Given the description of an element on the screen output the (x, y) to click on. 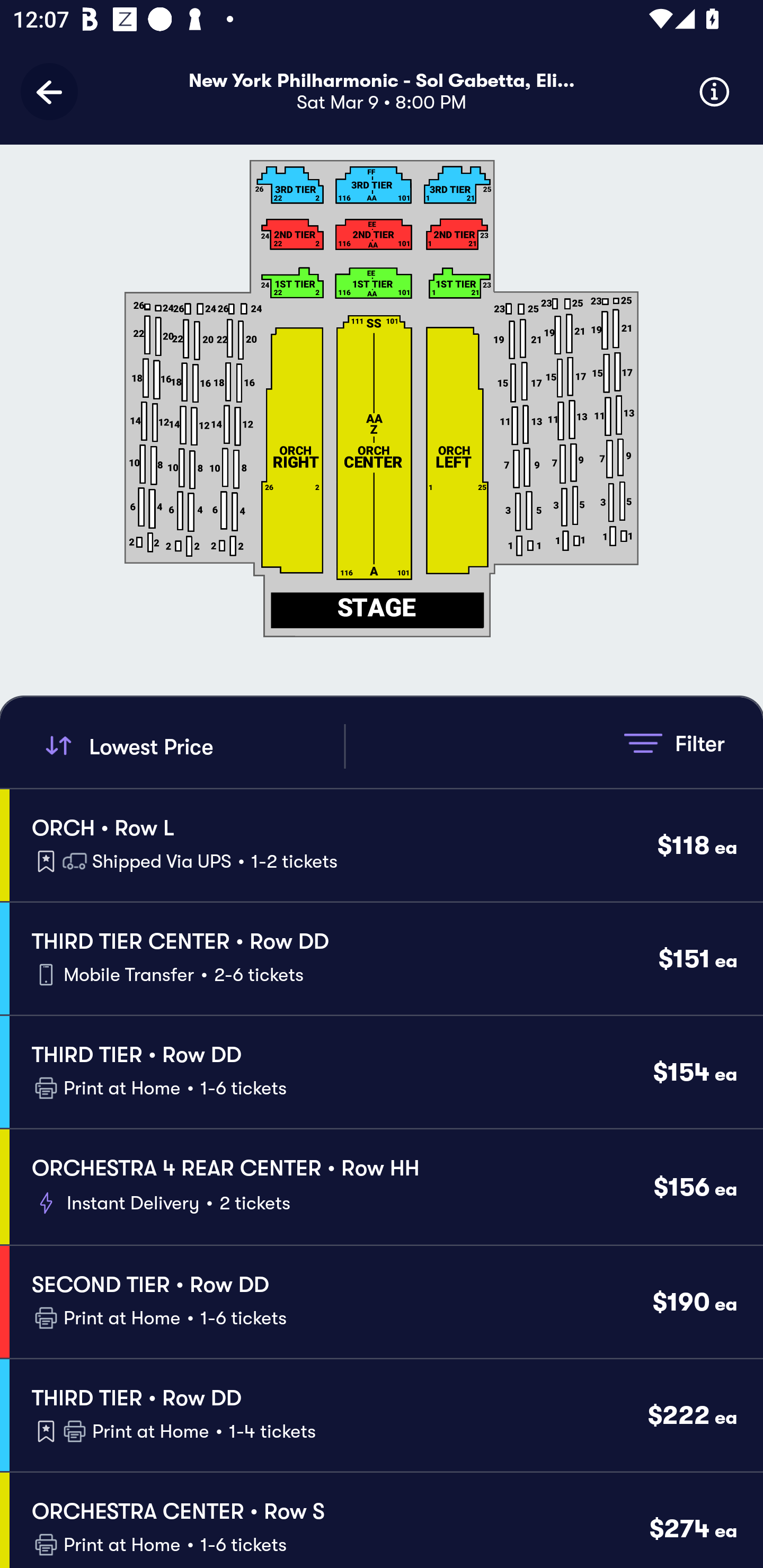
Lowest Price (191, 746)
Filter (674, 743)
ORCH • Row L Shipped Via UPS • 1-2 tickets $118 ea (386, 844)
